Given the description of an element on the screen output the (x, y) to click on. 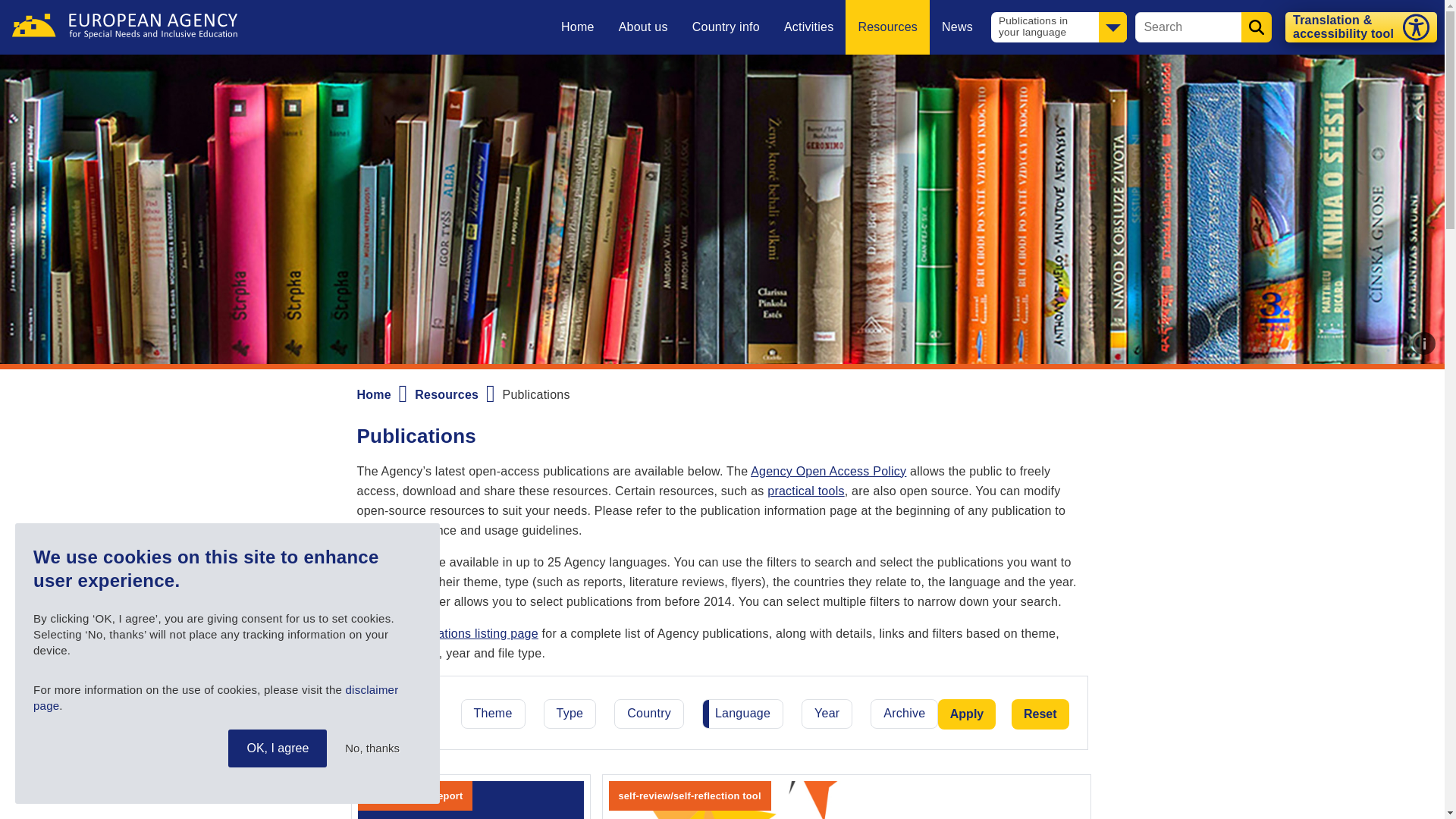
Home (124, 25)
Country info (725, 27)
About us (643, 27)
Year (826, 714)
Reset (1039, 714)
Apply (966, 714)
OK, I agree (277, 748)
disclaimer page (215, 697)
Country (648, 714)
Language (743, 714)
